Given the description of an element on the screen output the (x, y) to click on. 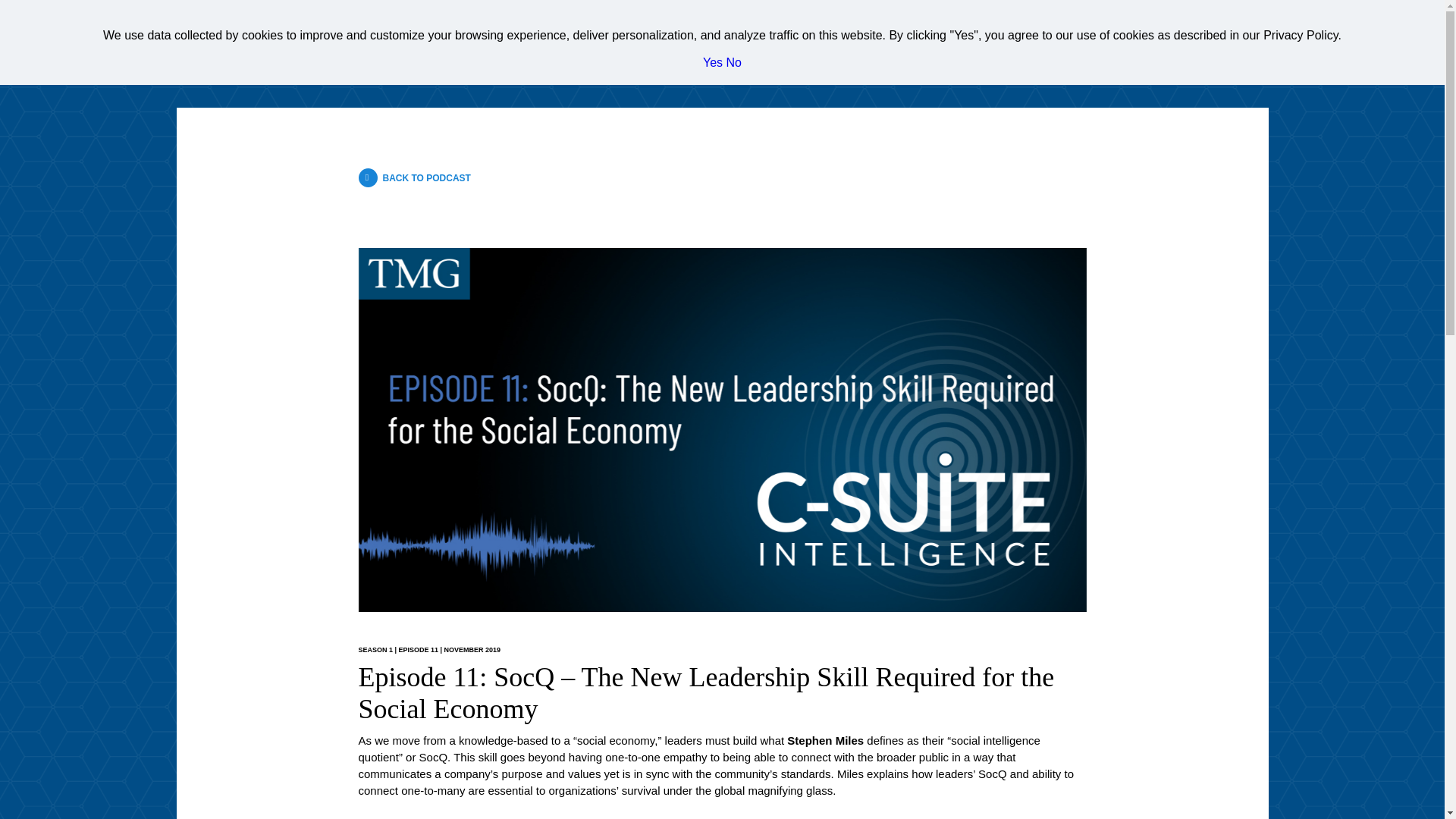
Yes (712, 62)
BACK TO PODCAST (414, 177)
TMG (227, 31)
LEADERSHIP ACCELERATOR (1194, 31)
No (733, 62)
